Given the description of an element on the screen output the (x, y) to click on. 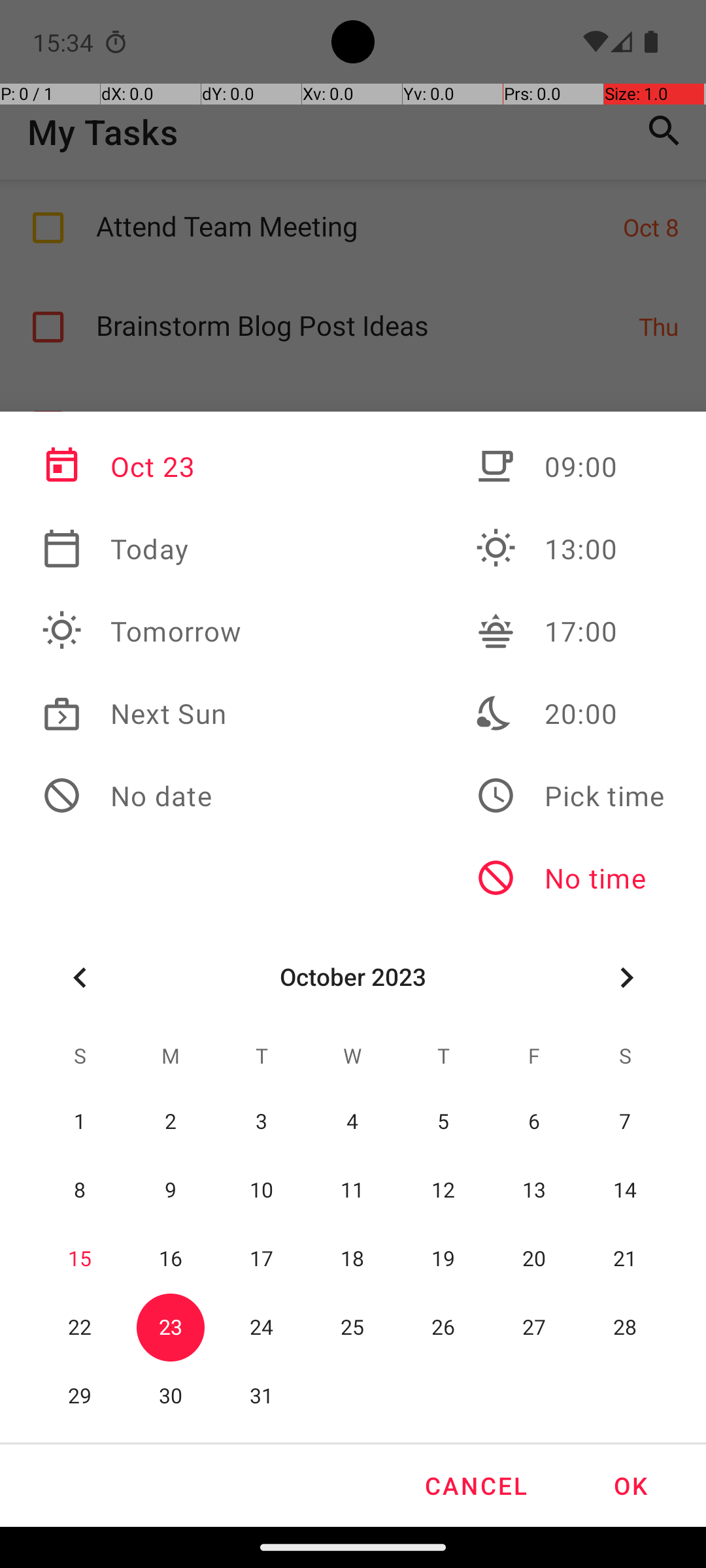
Oct 23 Element type: android.widget.CompoundButton (141, 466)
